Given the description of an element on the screen output the (x, y) to click on. 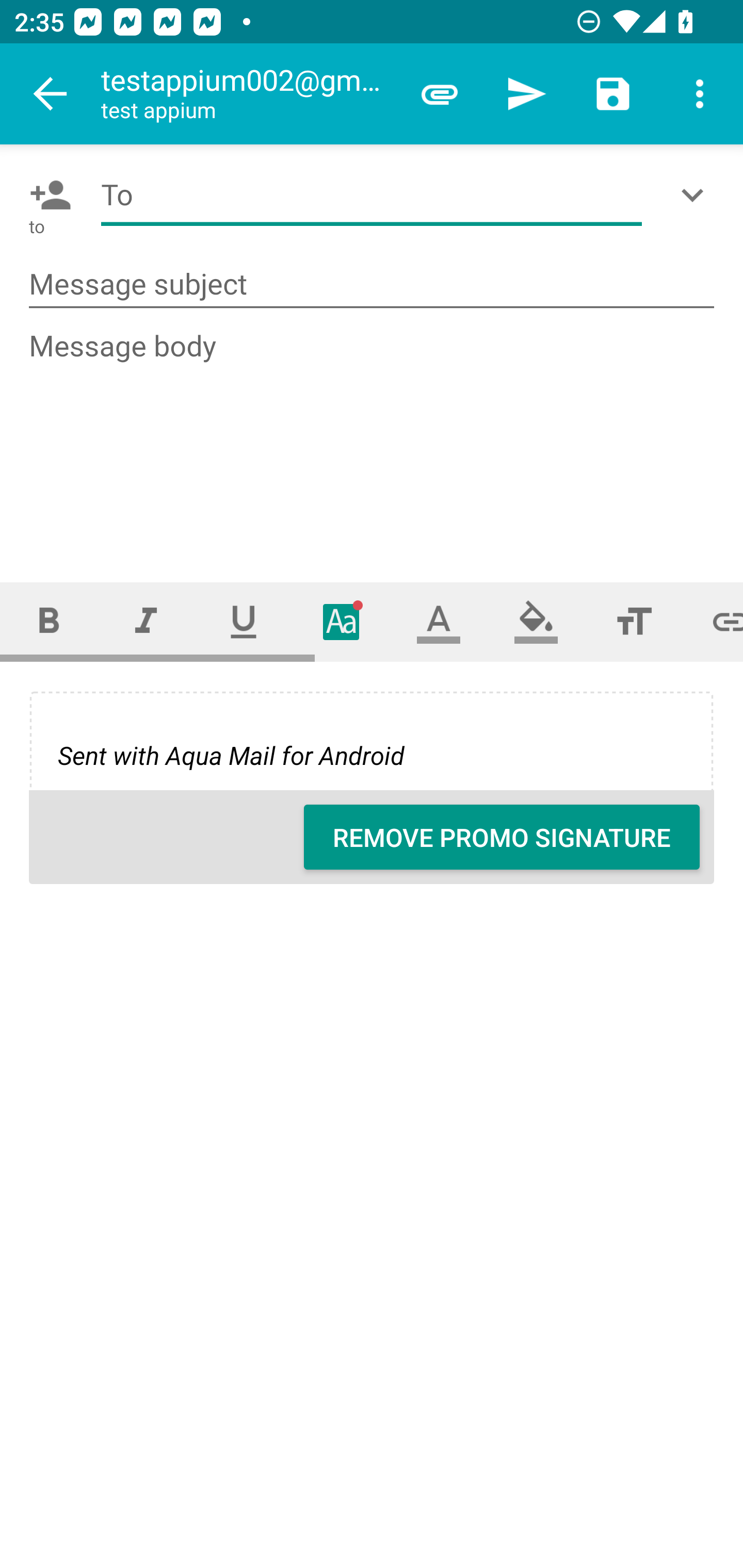
Navigate up (50, 93)
testappium002@gmail.com test appium (248, 93)
Attach (439, 93)
Send (525, 93)
Save (612, 93)
More options (699, 93)
Pick contact: To (46, 195)
Show/Add CC/BCC (696, 195)
To (371, 195)
Message subject (371, 284)
Message body (372, 438)
Bold (48, 621)
Italic (145, 621)
Underline (243, 621)
Typeface (font) (341, 621)
Text color (438, 621)
Fill color (536, 621)
Font size (633, 621)
REMOVE PROMO SIGNATURE (501, 837)
